Given the description of an element on the screen output the (x, y) to click on. 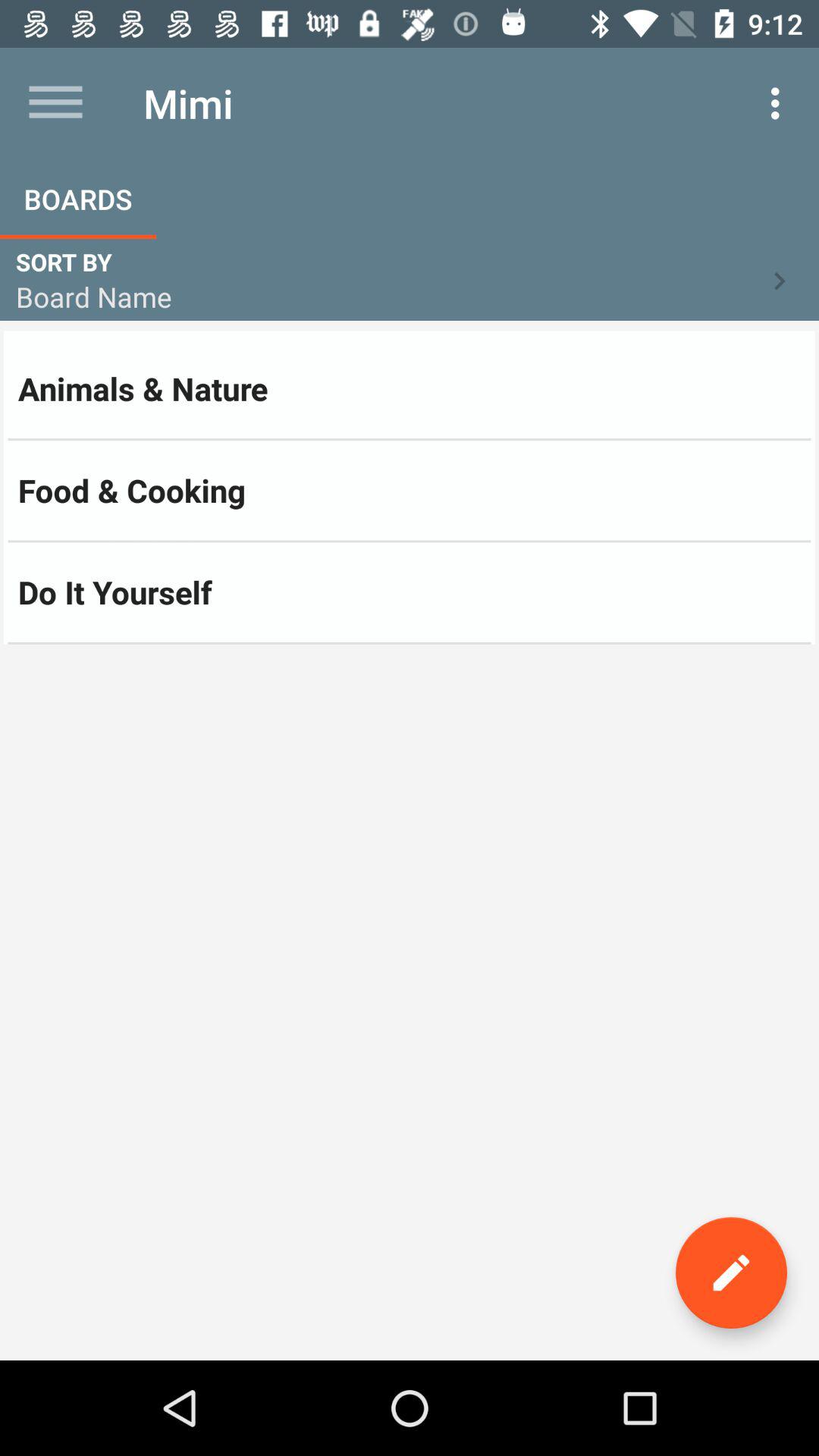
open item to the left of mimi item (55, 103)
